Given the description of an element on the screen output the (x, y) to click on. 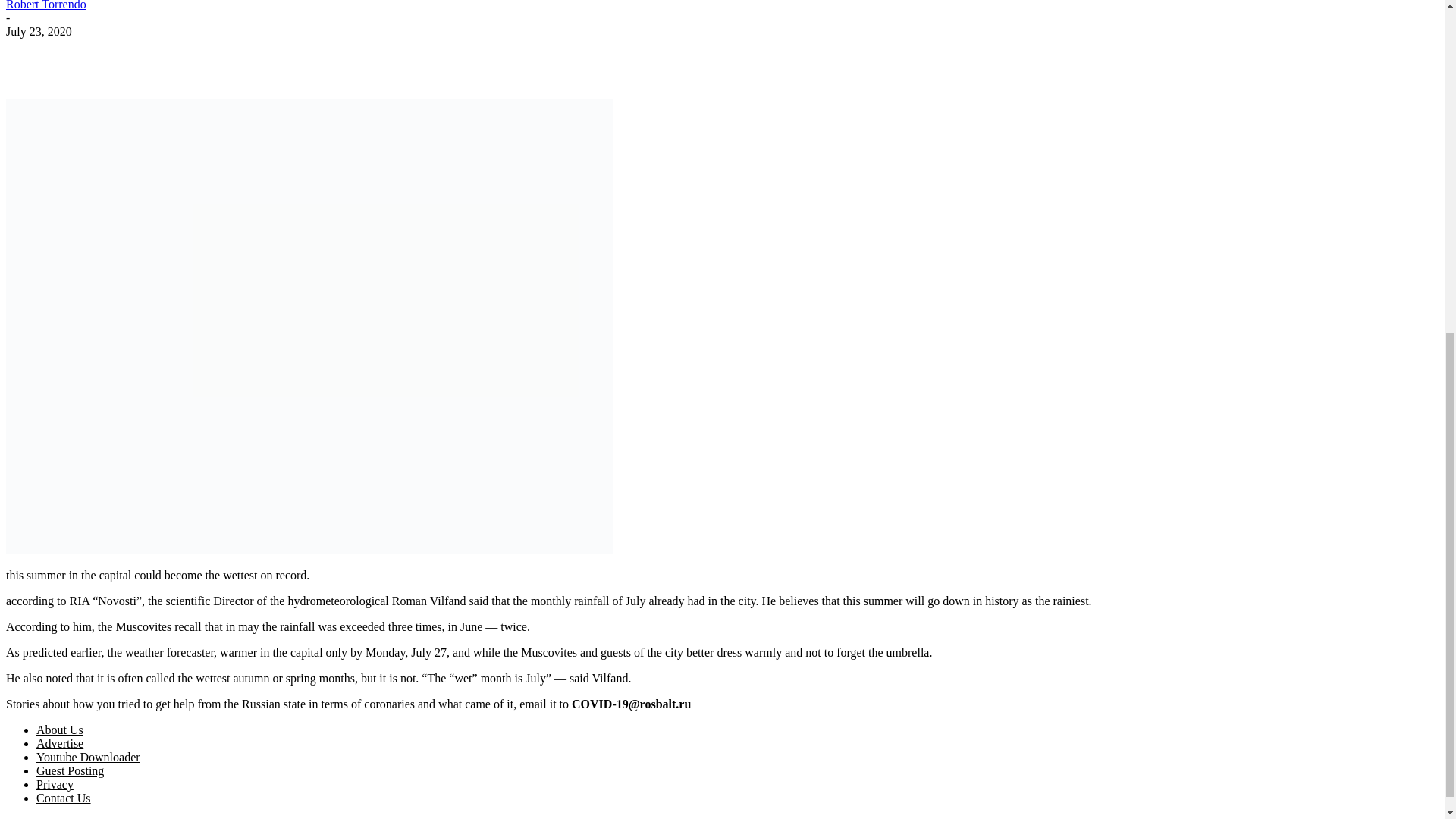
Guest Posting (69, 770)
About Us (59, 729)
Advertise (59, 743)
Contact Us (63, 797)
Privacy (55, 784)
Robert Torrendo (45, 5)
Youtube Downloader (87, 757)
